Given the description of an element on the screen output the (x, y) to click on. 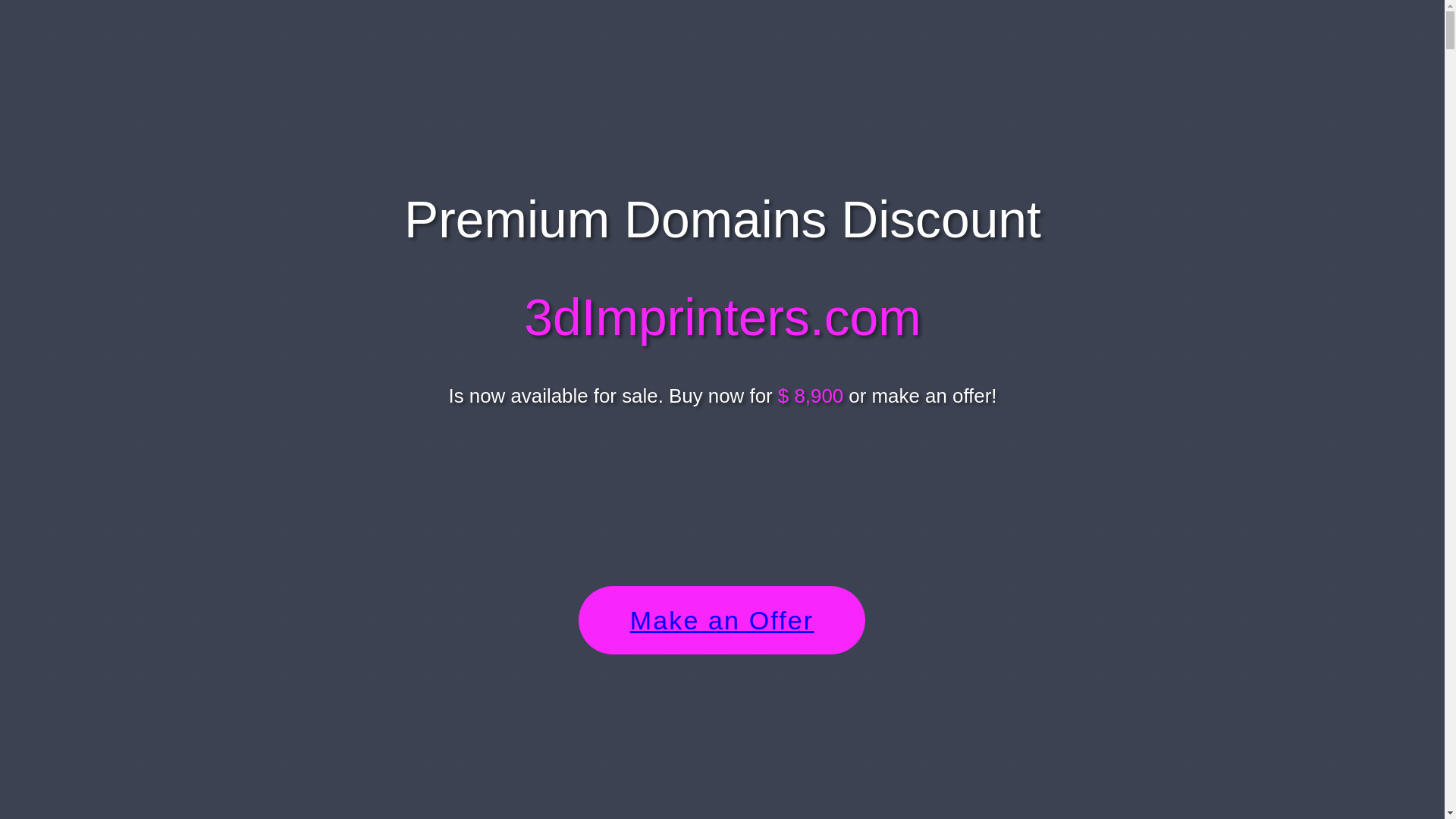
Make an Offer Element type: text (721, 620)
